Given the description of an element on the screen output the (x, y) to click on. 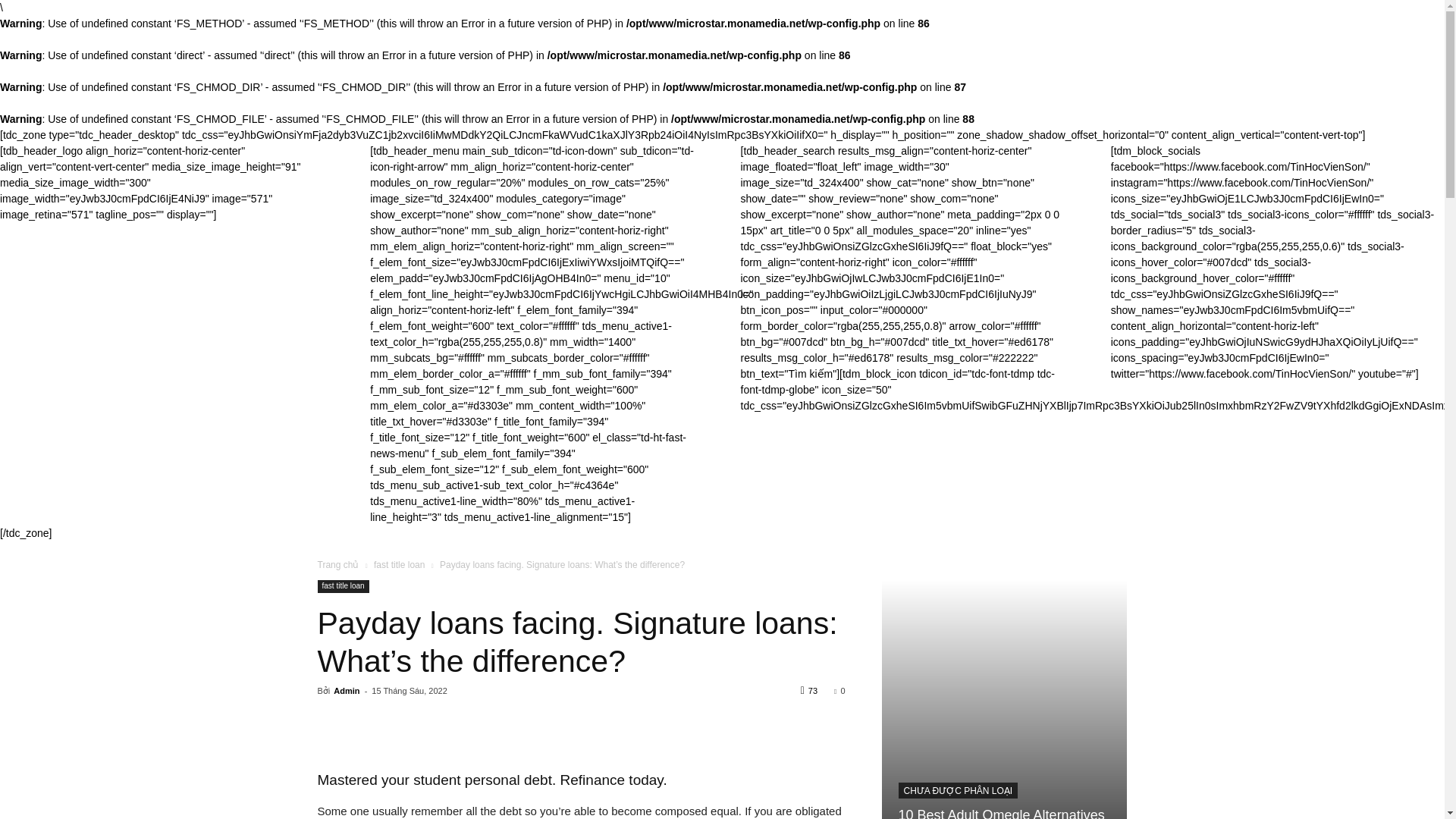
fast title loan (399, 564)
fast title loan (342, 585)
0 (839, 690)
Admin (346, 690)
